Given the description of an element on the screen output the (x, y) to click on. 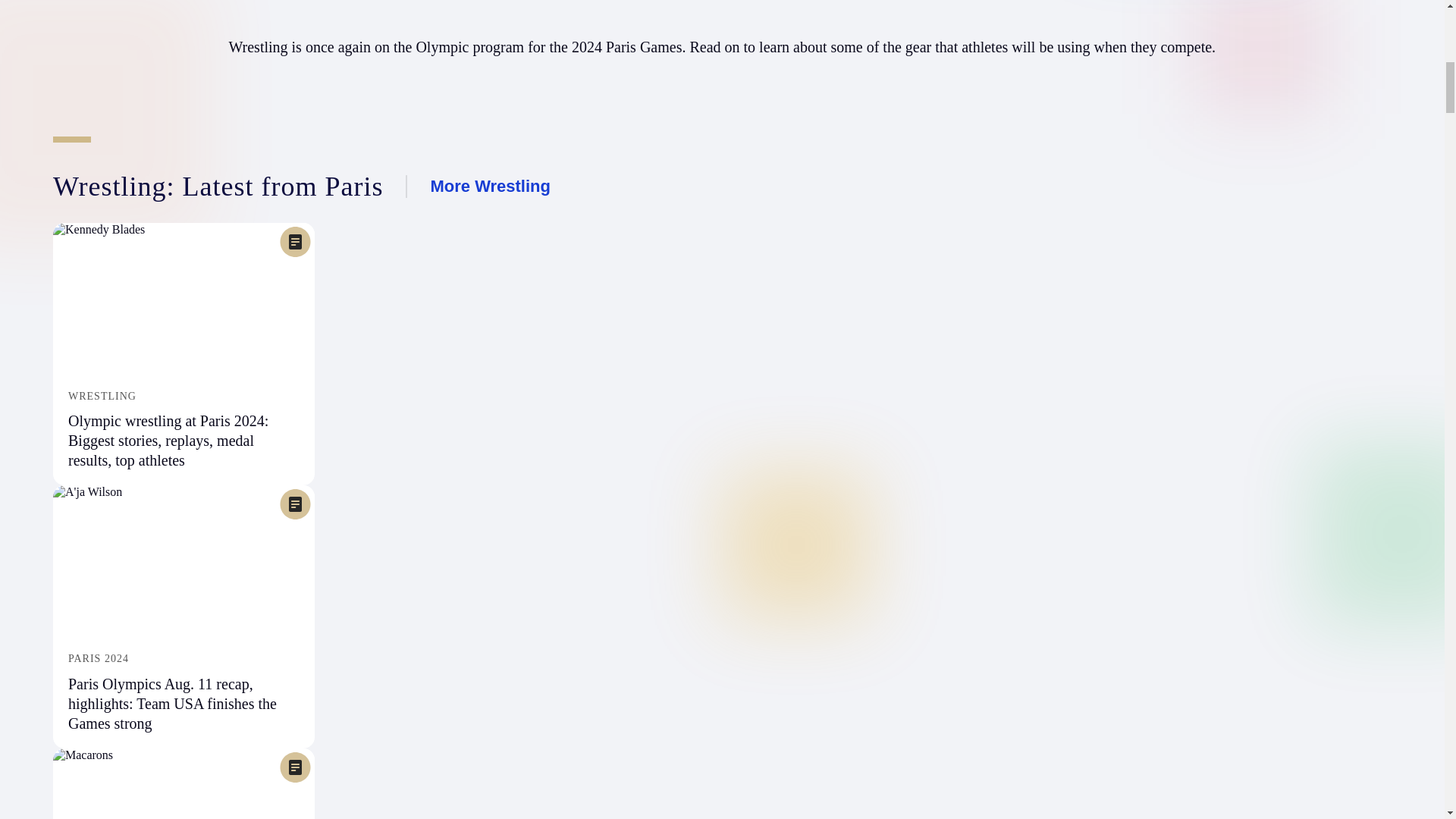
More Wrestling (489, 186)
PARIS 2024 (183, 658)
WRESTLING (183, 396)
